Given the description of an element on the screen output the (x, y) to click on. 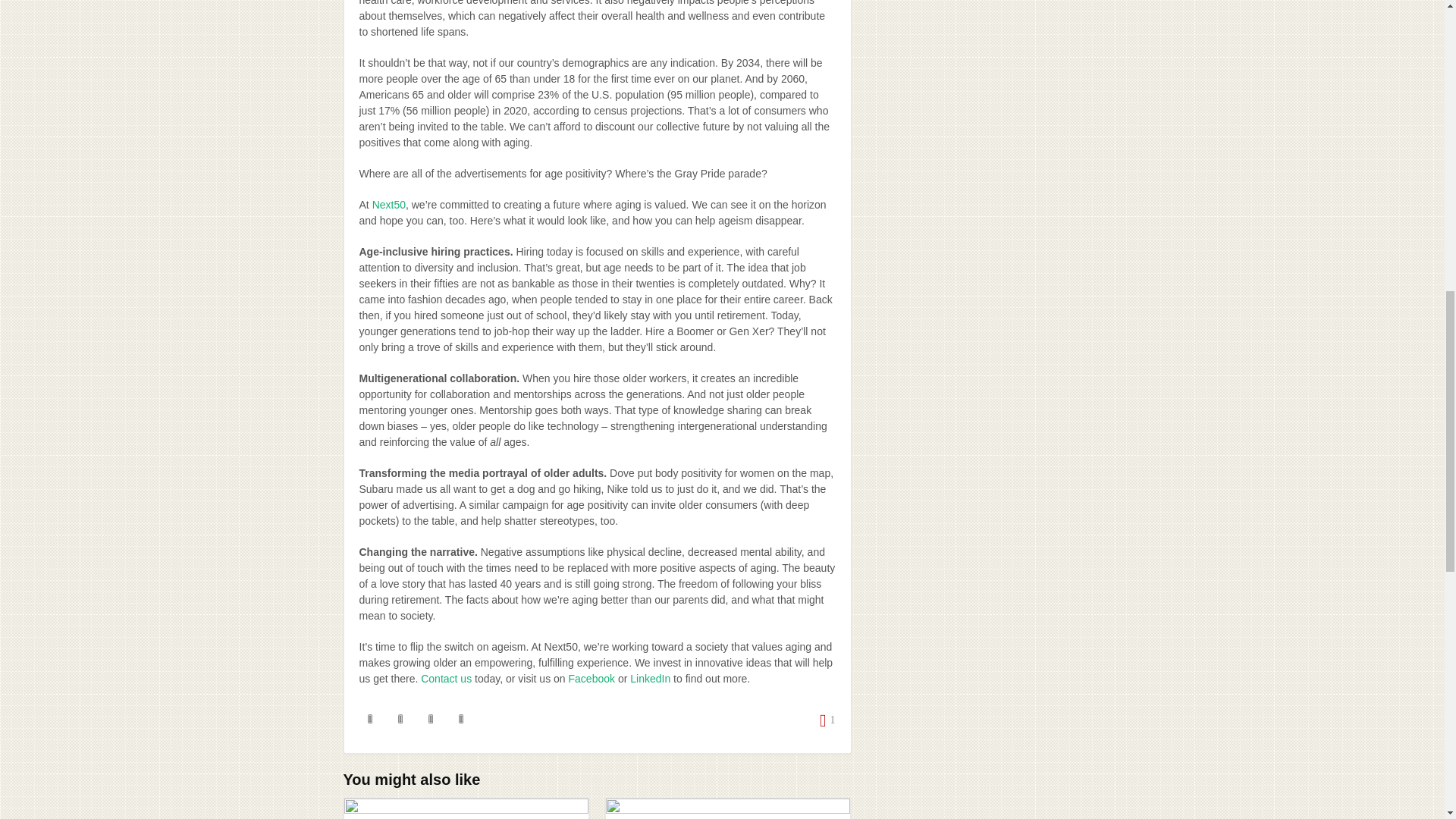
What you need to know about the cancer-diabetes connection (465, 808)
Contact us (445, 678)
Facebook (591, 678)
Next50 (389, 204)
LinkedIn (649, 678)
5 reasons to travel to Rapid City, South Dakota, this fall (727, 808)
